Given the description of an element on the screen output the (x, y) to click on. 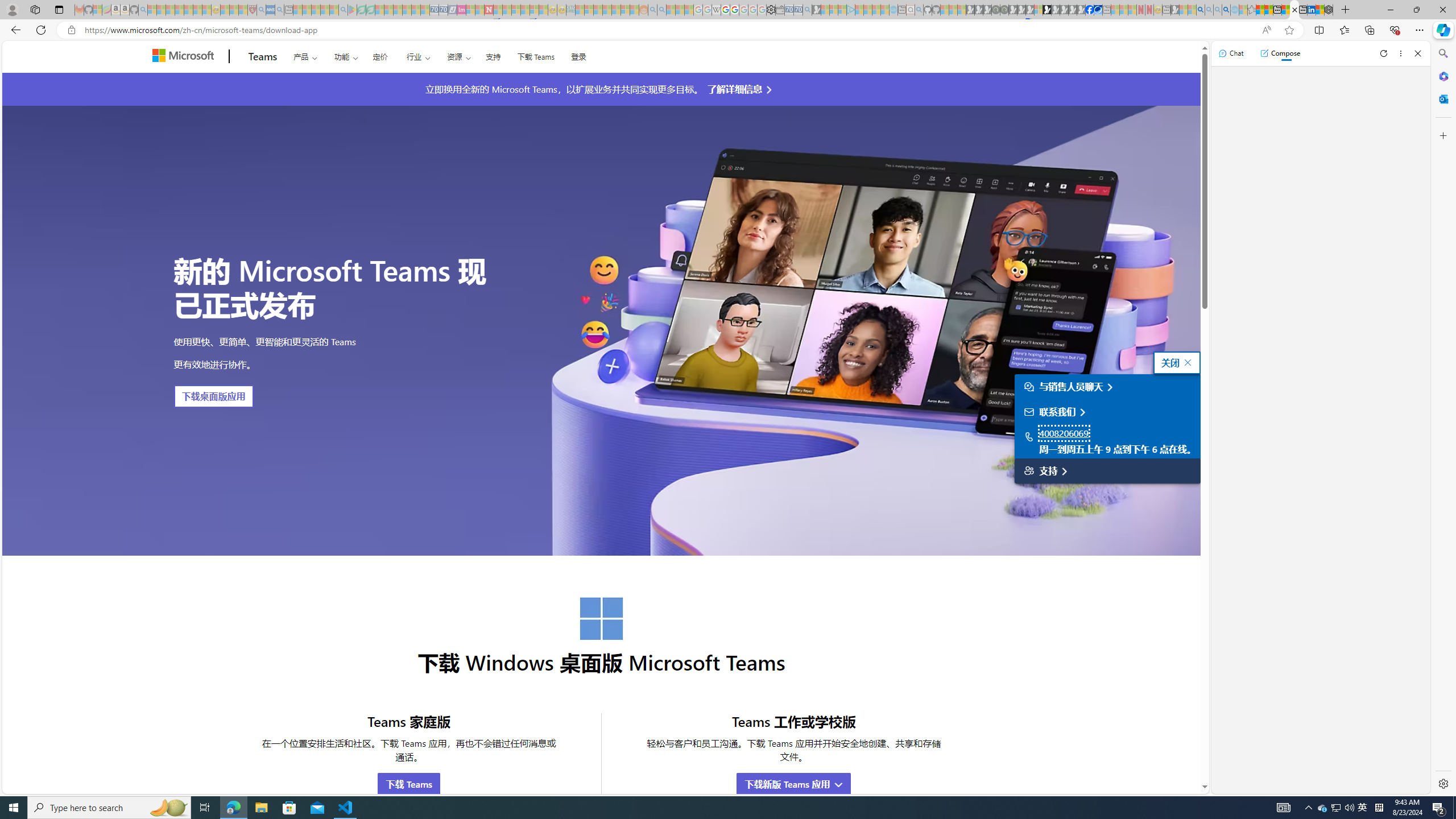
Nordace | Facebook (1089, 9)
The Weather Channel - MSN - Sleeping (170, 9)
Close Customize pane (1442, 135)
DITOGAMES AG Imprint - Sleeping (570, 9)
google - Search - Sleeping (342, 9)
Compose (1279, 52)
